Given the description of an element on the screen output the (x, y) to click on. 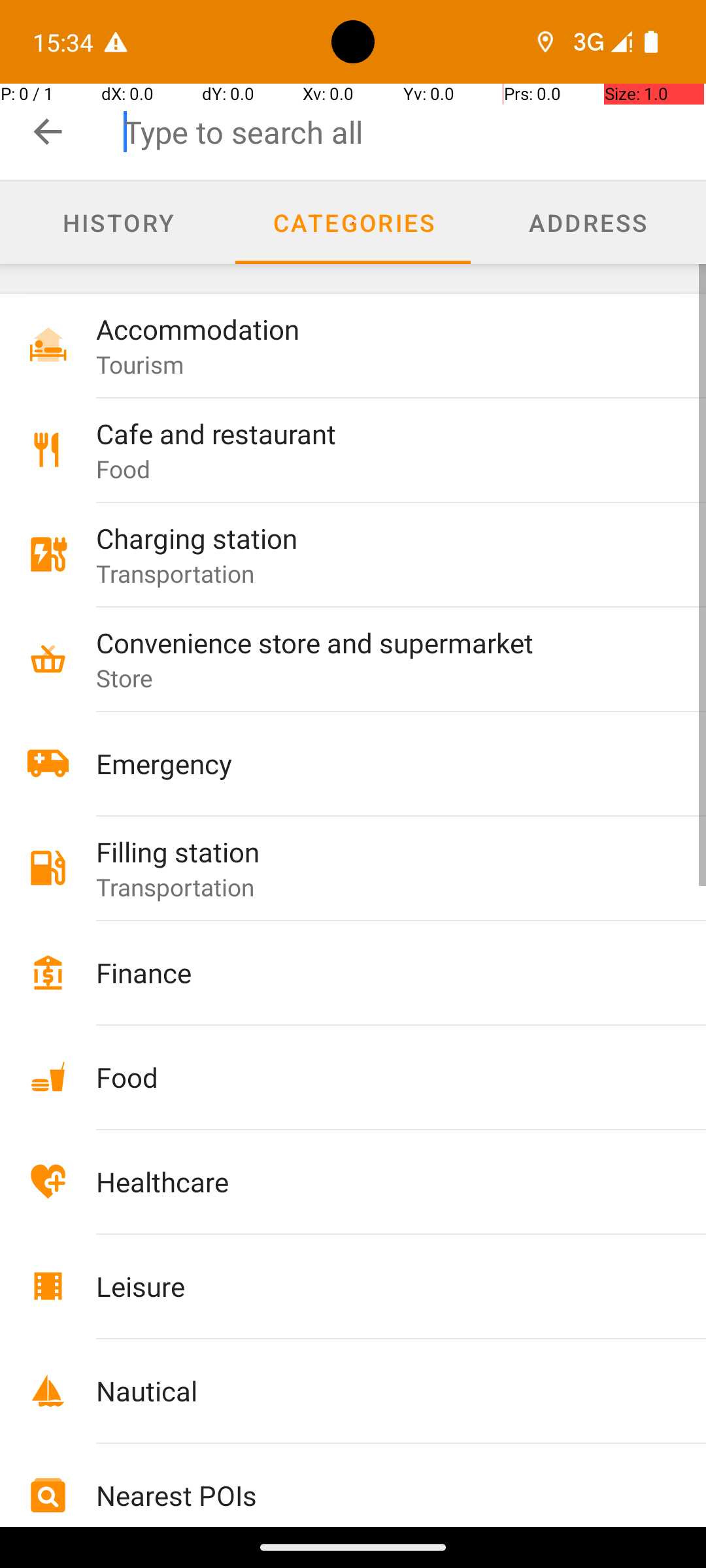
Type to search all Element type: android.widget.EditText (414, 131)
History Element type: android.widget.LinearLayout (117, 222)
Categories Element type: android.widget.LinearLayout (352, 222)
Address Element type: android.widget.LinearLayout (588, 222)
HISTORY Element type: android.widget.TextView (117, 222)
CATEGORIES Element type: android.widget.TextView (352, 222)
ADDRESS Element type: android.widget.TextView (587, 222)
Accommodation Element type: android.widget.TextView (373, 328)
Tourism Element type: android.widget.TextView (140, 363)
Cafe and restaurant Element type: android.widget.TextView (373, 433)
Charging station Element type: android.widget.TextView (373, 537)
Transportation Element type: android.widget.TextView (175, 572)
Convenience store and supermarket Element type: android.widget.TextView (373, 642)
Store Element type: android.widget.TextView (124, 677)
Emergency Element type: android.widget.TextView (373, 763)
Filling station Element type: android.widget.TextView (373, 851)
Healthcare Element type: android.widget.TextView (373, 1181)
Leisure Element type: android.widget.TextView (373, 1285)
Nautical Element type: android.widget.TextView (373, 1390)
Nearest POIs Element type: android.widget.TextView (373, 1494)
